Given the description of an element on the screen output the (x, y) to click on. 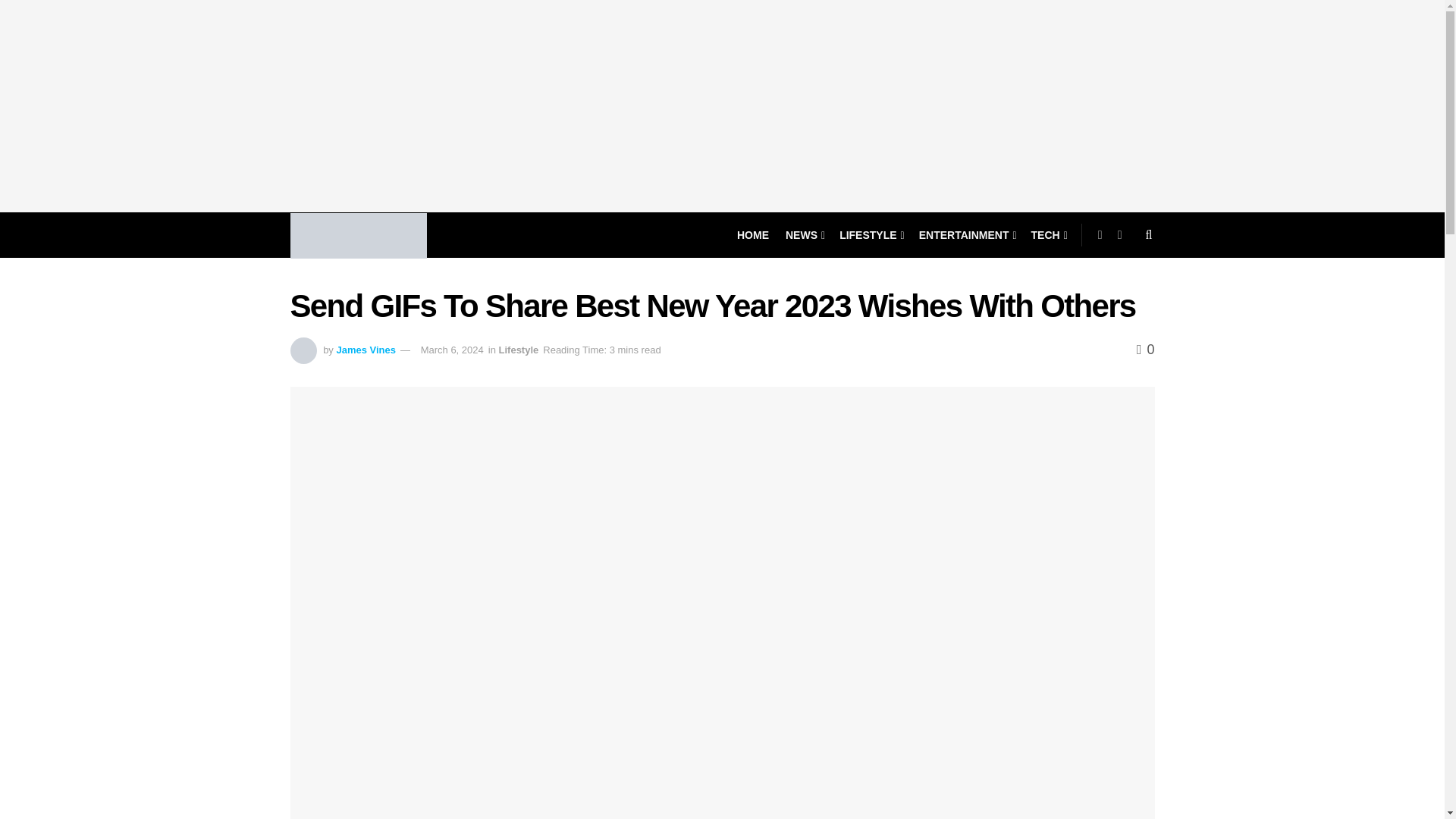
ENTERTAINMENT (966, 234)
March 6, 2024 (451, 349)
Lifestyle (518, 349)
James Vines (366, 349)
0 (1145, 349)
LIFESTYLE (871, 234)
